Given the description of an element on the screen output the (x, y) to click on. 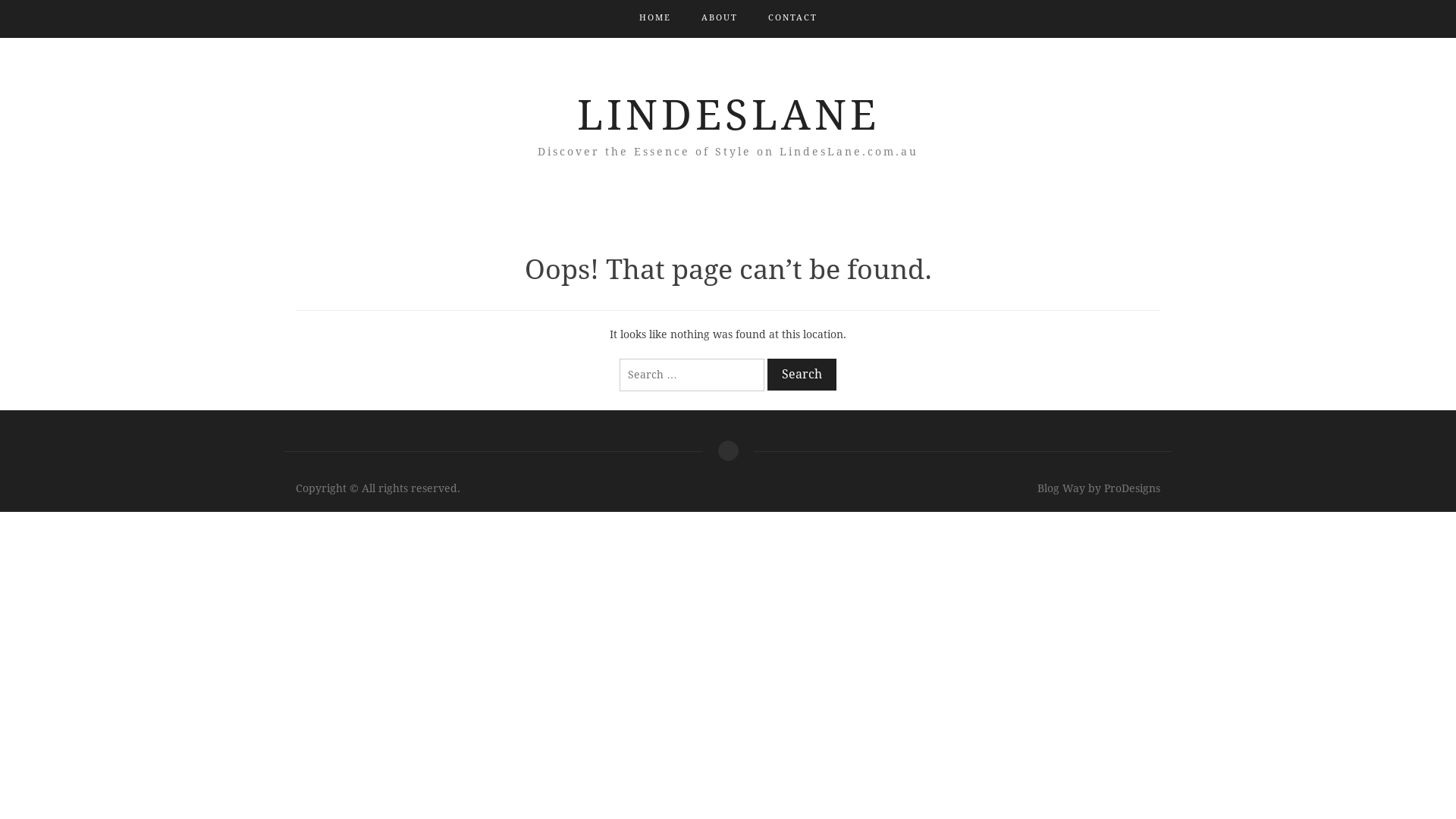
ProDesigns Element type: text (1132, 488)
Search Element type: text (801, 374)
ABOUT Element type: text (718, 18)
HOME Element type: text (654, 18)
Privacy Policy Element type: text (727, 450)
CONTACT Element type: text (791, 18)
LINDESLANE Element type: text (727, 115)
